Given the description of an element on the screen output the (x, y) to click on. 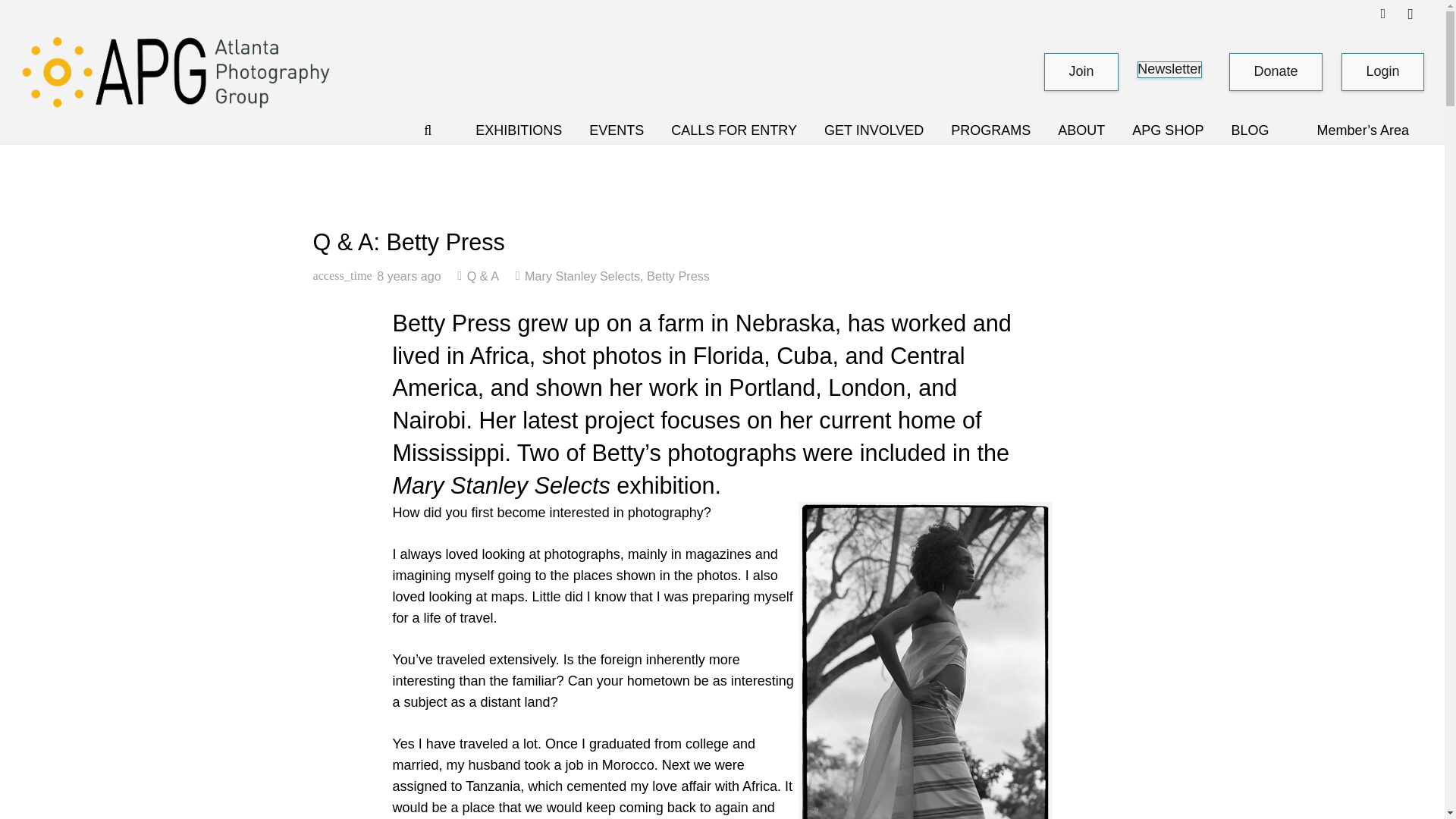
GET INVOLVED (873, 130)
Login (1381, 72)
EXHIBITIONS (518, 130)
EVENTS (616, 130)
Facebook (1383, 13)
Instagram (1409, 13)
Newsletter (1169, 69)
CALLS FOR ENTRY (734, 130)
Donate (1275, 71)
Join (1080, 71)
PROGRAMS (990, 130)
